Given the description of an element on the screen output the (x, y) to click on. 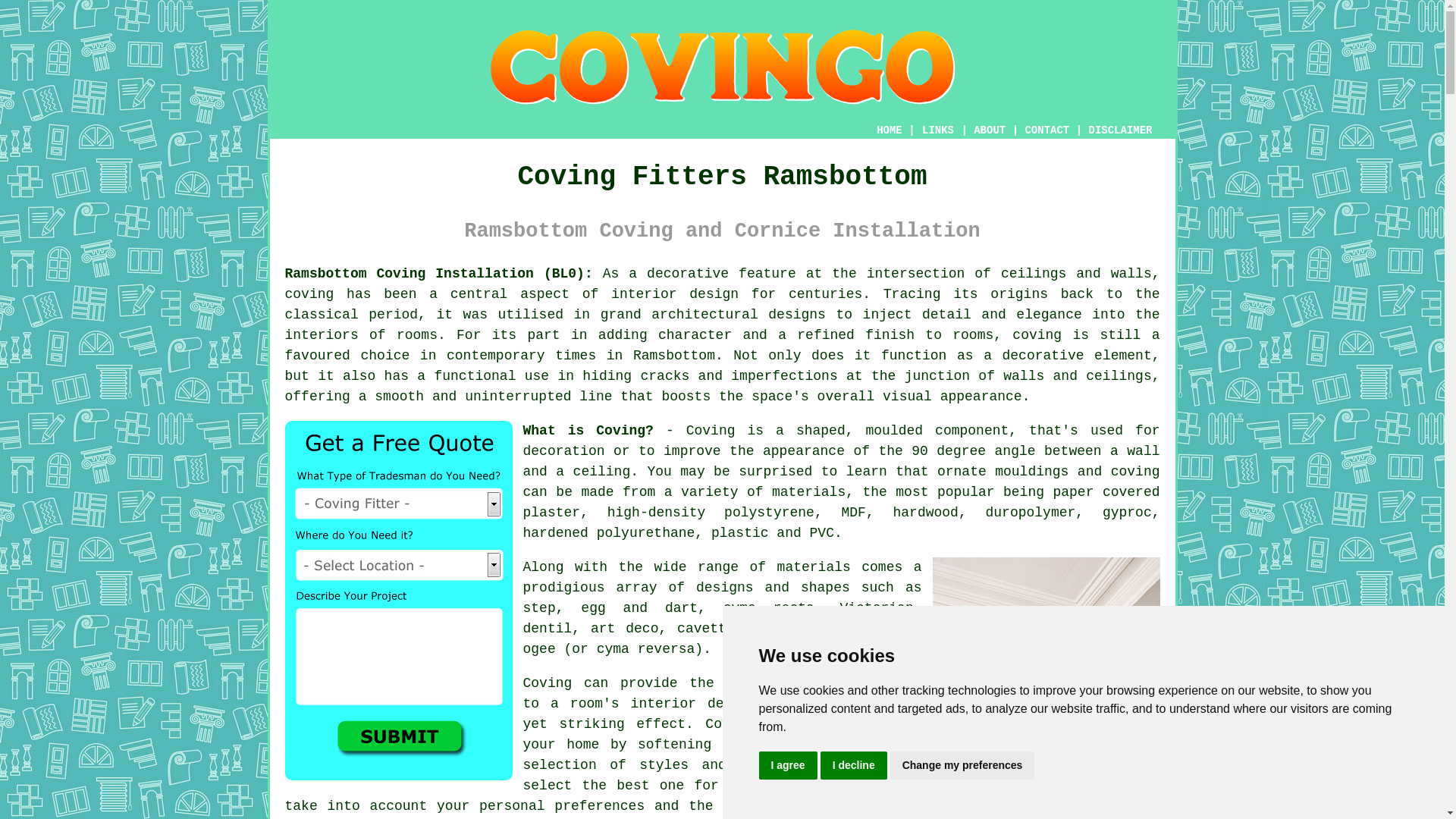
LINKS (938, 130)
coving (309, 294)
Change my preferences (962, 765)
I agree (787, 765)
Coving Installation Ramsbottom Greater Manchester (1046, 631)
Coving Installation Ramsbottom (721, 66)
I decline (853, 765)
HOME (889, 130)
